Given the description of an element on the screen output the (x, y) to click on. 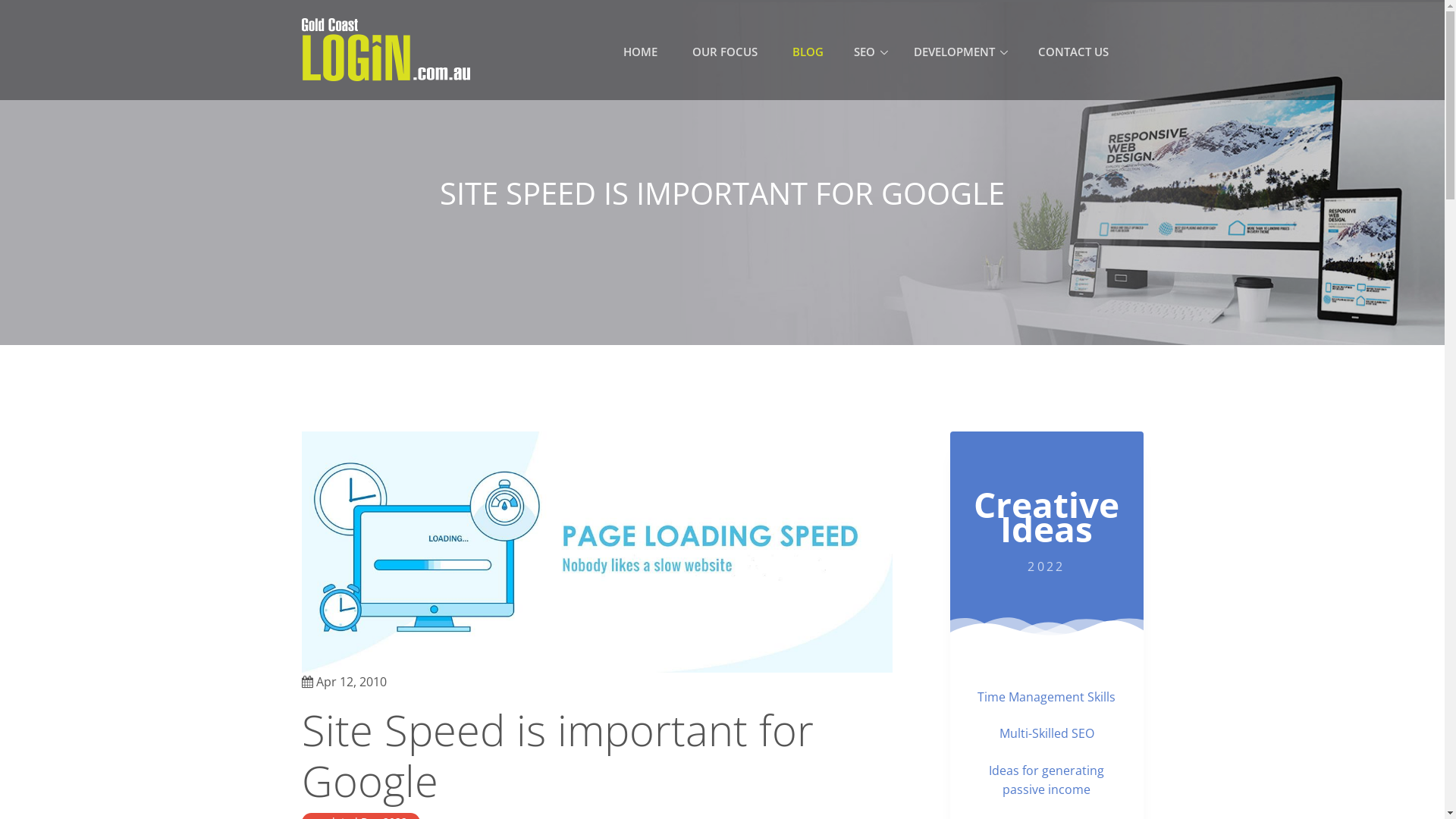
BLOG Element type: text (807, 52)
DEVELOPMENT Element type: text (960, 52)
Ideas for generating passive income Element type: text (1046, 780)
Time Management Skills Element type: text (1046, 696)
OUR FOCUS Element type: text (724, 52)
HOME Element type: text (640, 52)
SEO Element type: text (870, 52)
Multi-Skilled SEO Element type: text (1046, 732)
CONTACT US
(CURRENT) Element type: text (1073, 52)
